Given the description of an element on the screen output the (x, y) to click on. 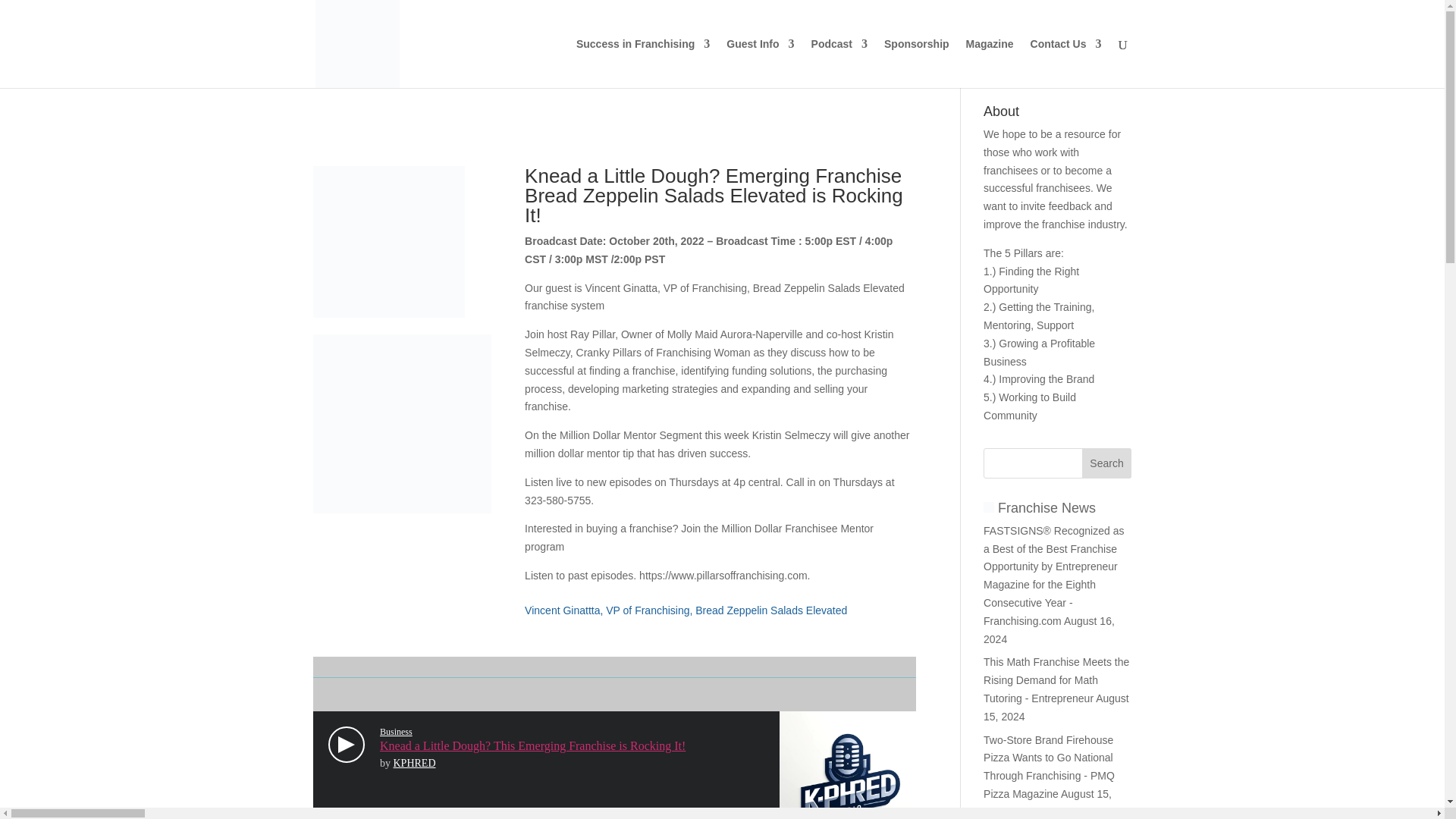
Vincent Ginatta (402, 423)
Bread Zeppelin Salads logo (388, 241)
Podcast (838, 62)
Success in Franchising (643, 62)
Guest Info (759, 62)
Sponsorship (916, 62)
Magazine (989, 62)
Contact Us (1066, 62)
Search (1106, 462)
